Given the description of an element on the screen output the (x, y) to click on. 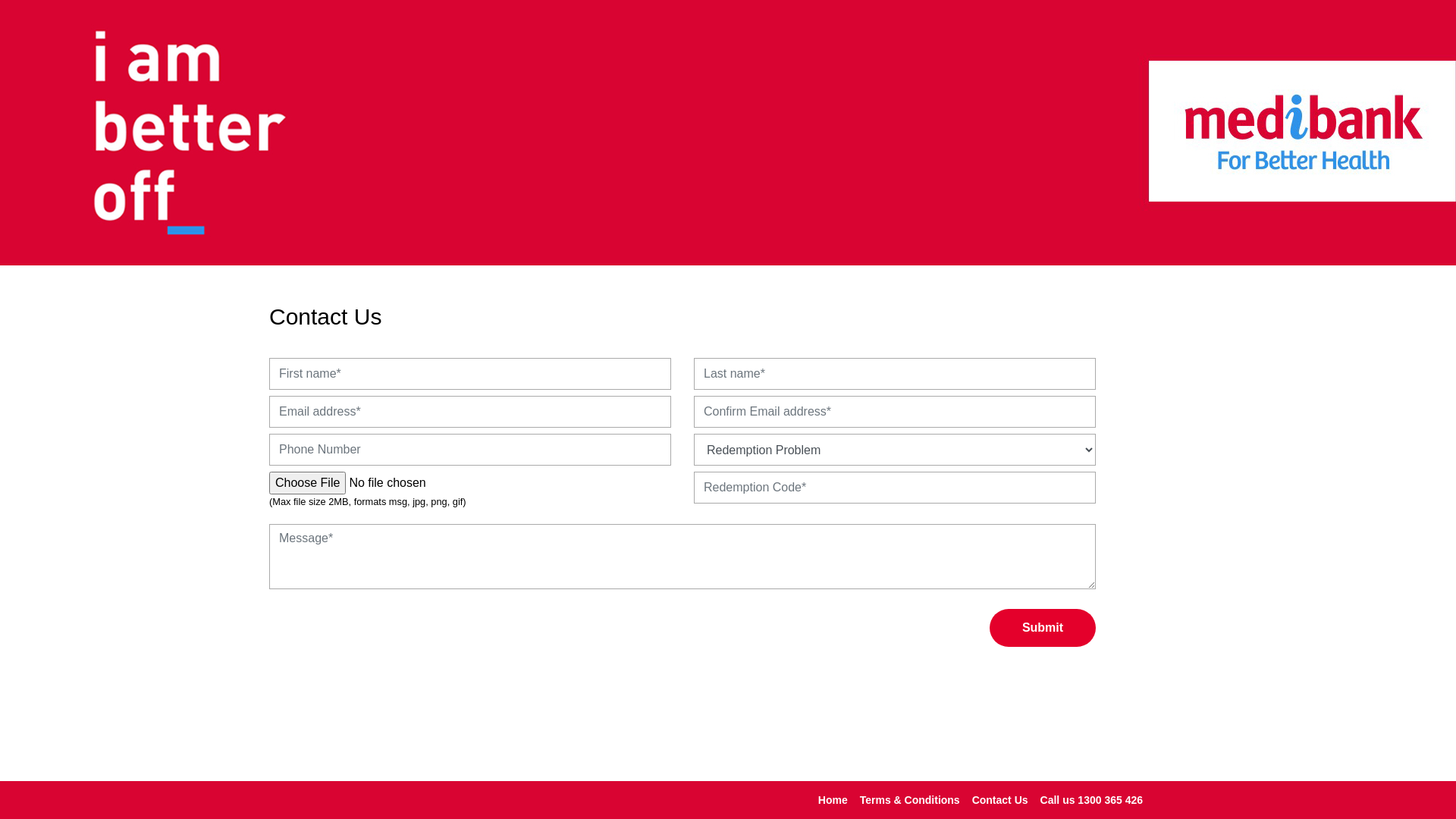
Home Element type: text (832, 799)
Contact Us Element type: text (1000, 799)
Call us 1300 365 426 Element type: text (1091, 799)
Submit Element type: text (1042, 627)
Terms & Conditions Element type: text (909, 799)
